Given the description of an element on the screen output the (x, y) to click on. 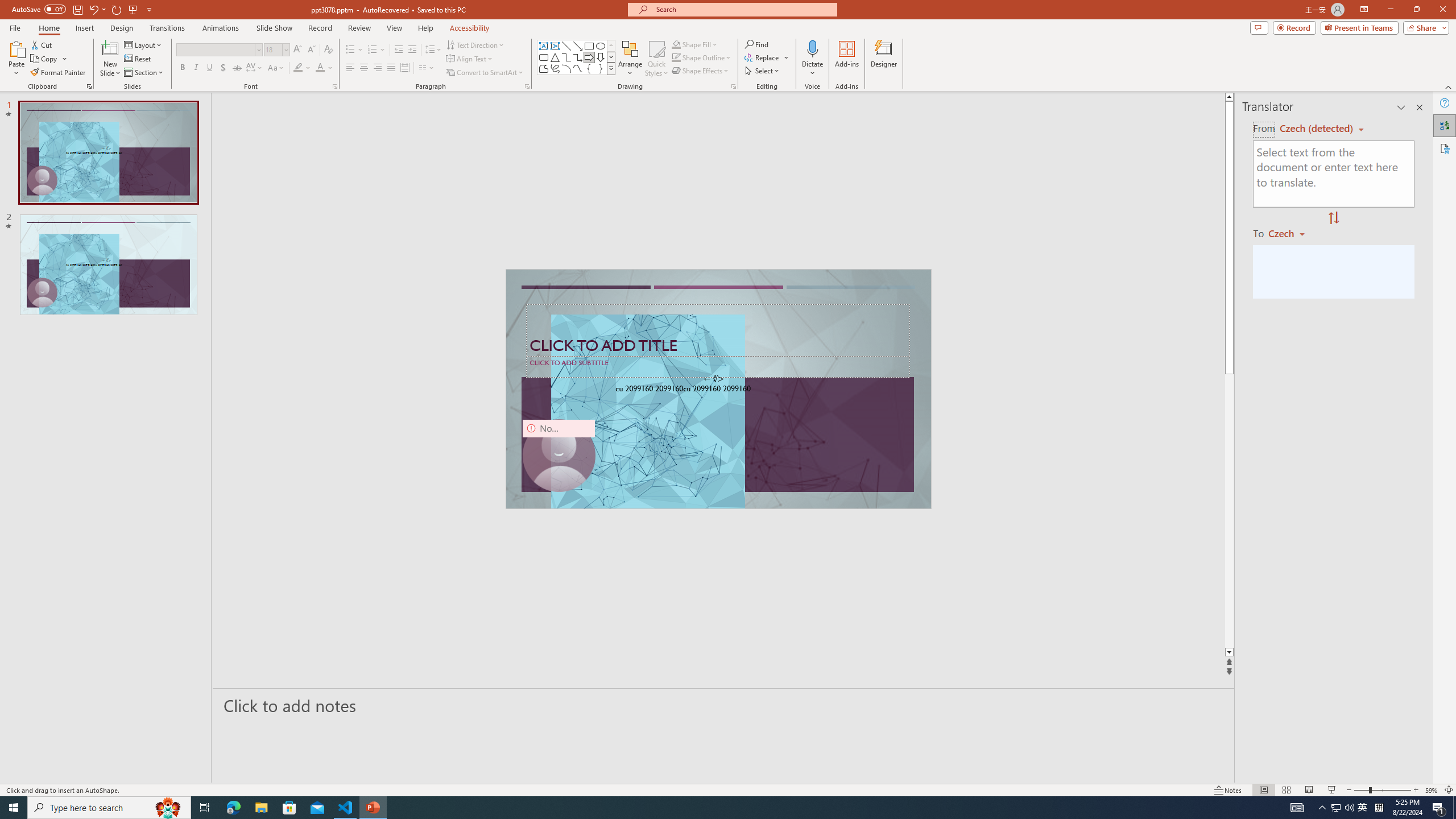
wangyian_dsw - DSW (23, 183)
Explorer actions (221, 183)
icon (976, 112)
Forwarded Ports: 36301, 47065, 38781, 45817, 50331 (175, 766)
Title actions (1003, 150)
